Given the description of an element on the screen output the (x, y) to click on. 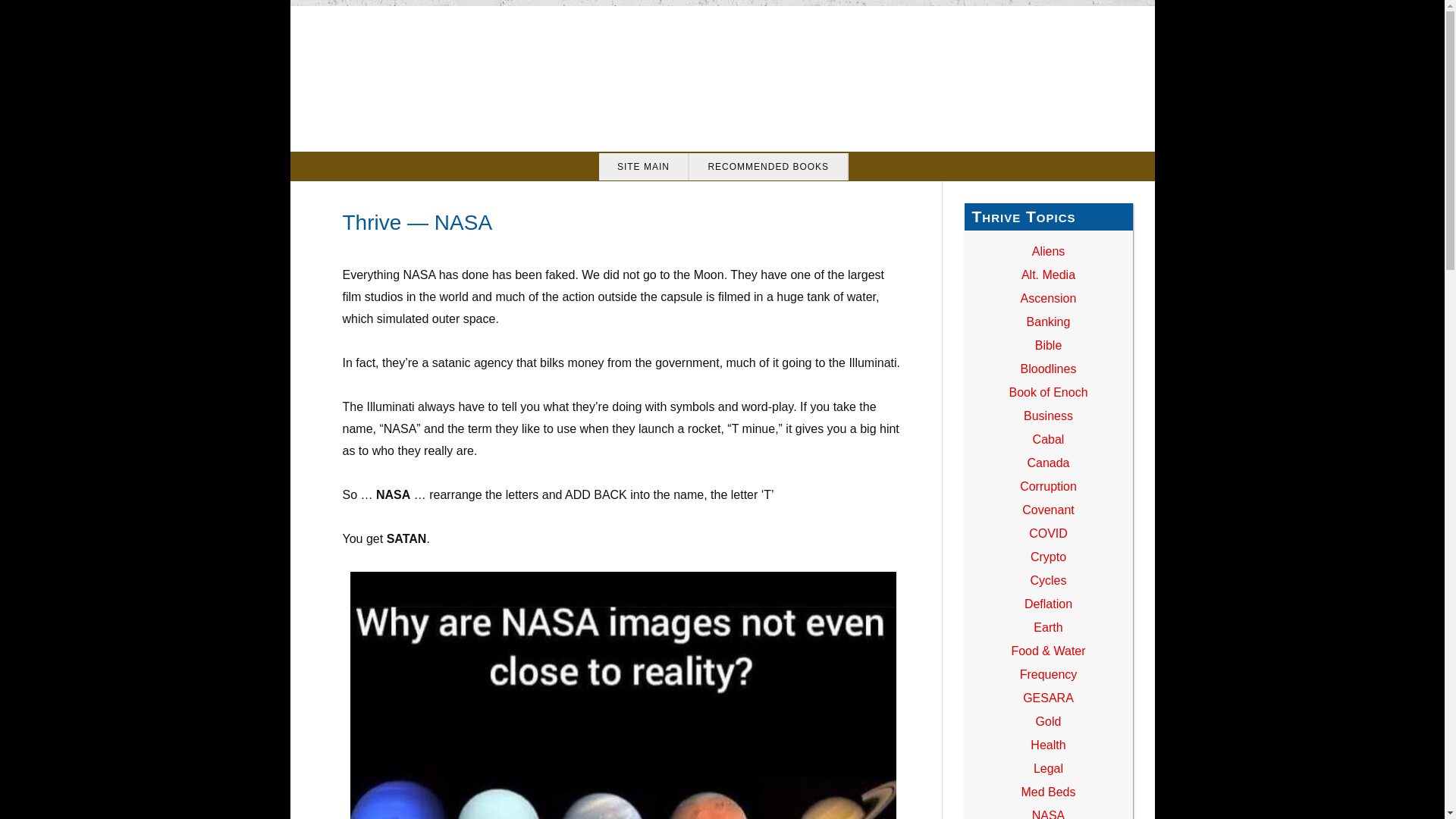
NASA (1048, 814)
Covenant (1048, 509)
Med Beds (1047, 791)
Aliens (1048, 250)
Frequency (1048, 674)
Gold (1048, 721)
Deflation (1048, 603)
Business (1048, 415)
Earth (1047, 626)
Health (1047, 744)
